Given the description of an element on the screen output the (x, y) to click on. 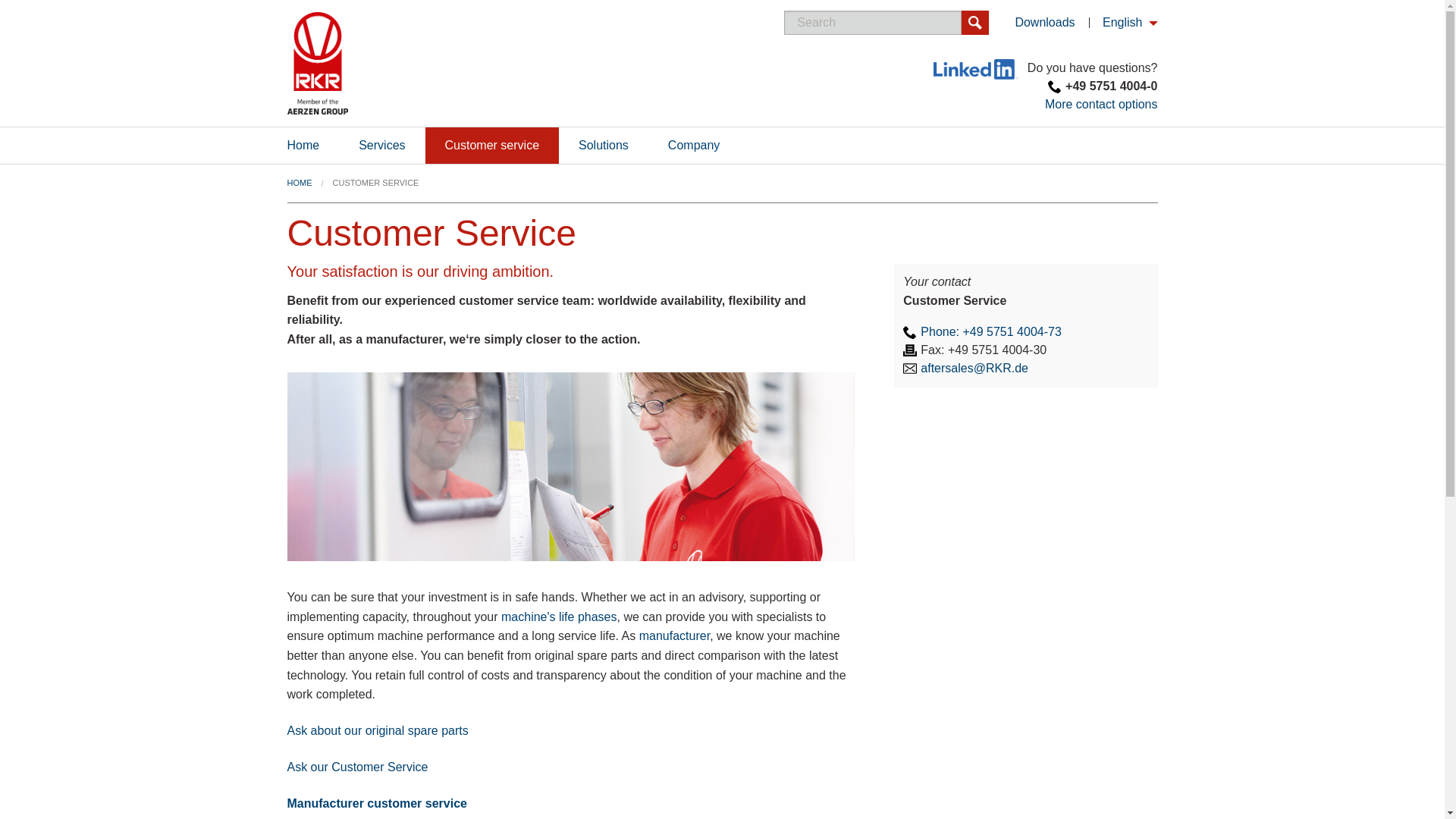
Startseite (316, 63)
Home (302, 145)
Services (382, 145)
Downloads (1044, 21)
